Given the description of an element on the screen output the (x, y) to click on. 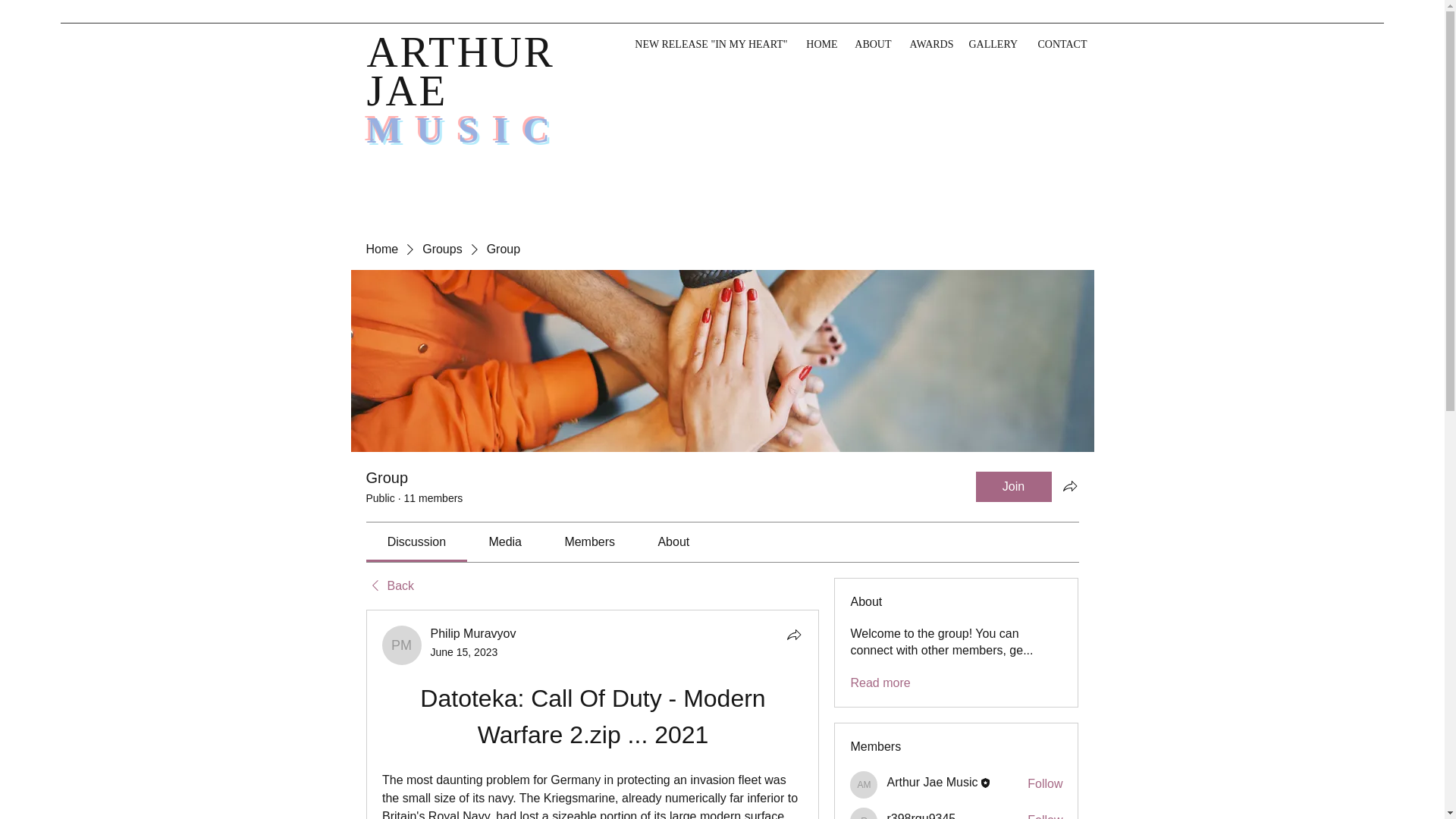
June 15, 2023 (463, 652)
ABOUT (871, 44)
JAE  (413, 90)
AWARDS (929, 44)
Home (381, 248)
NEW RELEASE "IN MY HEART" (707, 44)
Groups (441, 248)
Join (1013, 486)
GALLERY (992, 44)
Back (389, 586)
r398rgu9345 (920, 815)
HOME (819, 44)
Arthur Jae Music (931, 781)
Follow (1044, 783)
CONTACT (1059, 44)
